Given the description of an element on the screen output the (x, y) to click on. 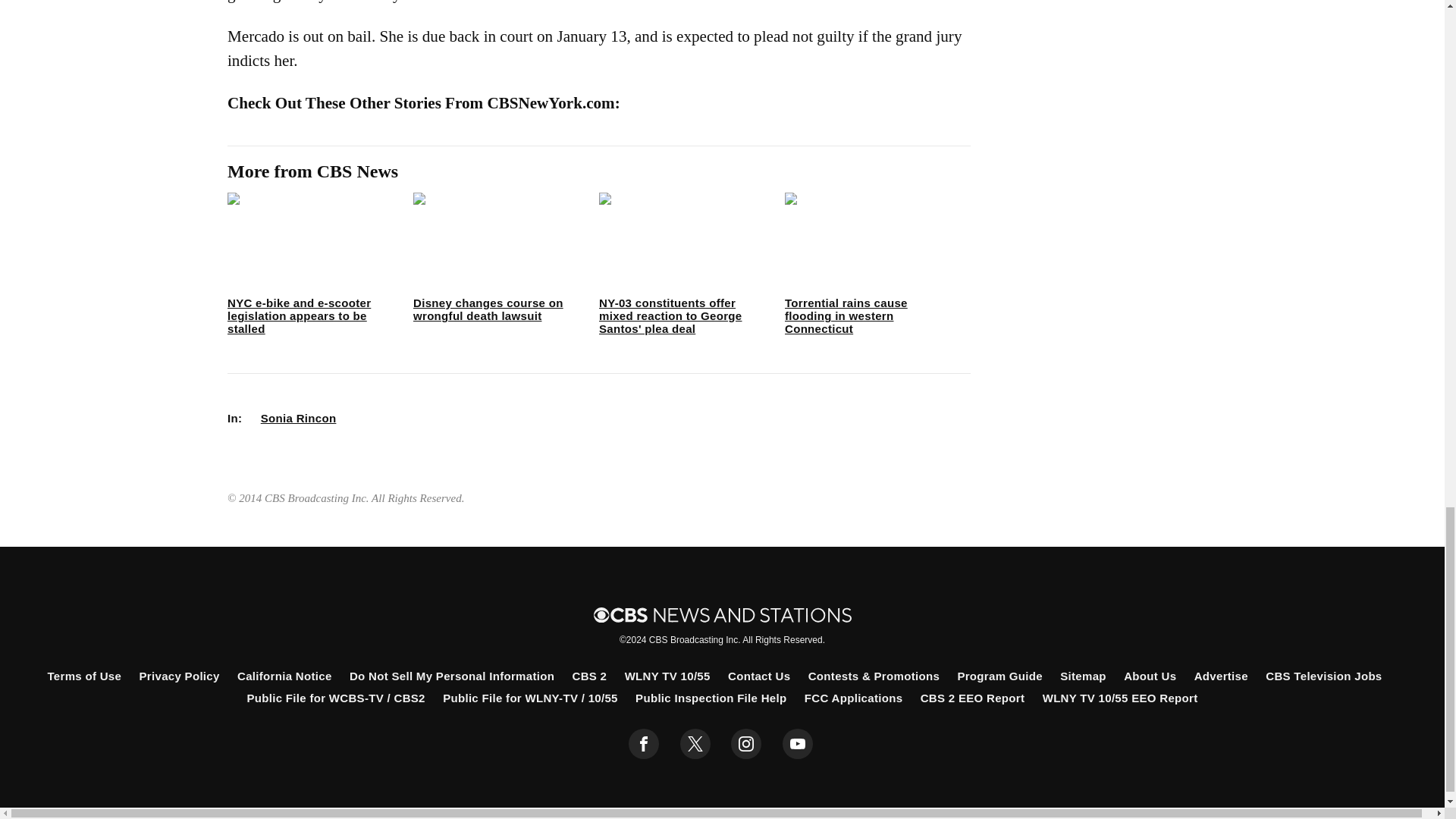
youtube (797, 743)
facebook (643, 743)
twitter (694, 743)
instagram (745, 743)
